Given the description of an element on the screen output the (x, y) to click on. 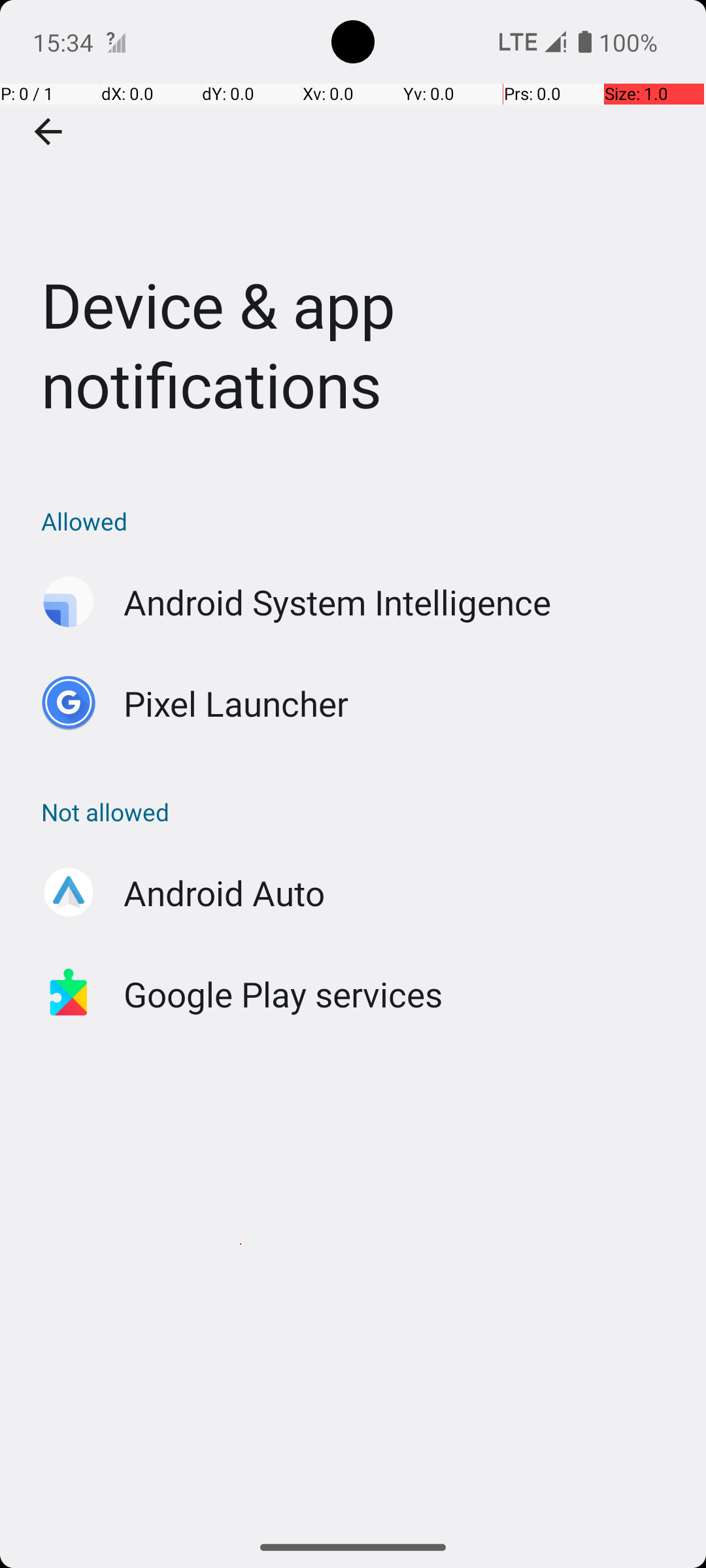
Allowed Element type: android.widget.TextView (359, 520)
Android System Intelligence Element type: android.widget.TextView (337, 601)
Pixel Launcher Element type: android.widget.TextView (236, 703)
Not allowed Element type: android.widget.TextView (359, 811)
Google Play services Element type: android.widget.TextView (283, 993)
